Given the description of an element on the screen output the (x, y) to click on. 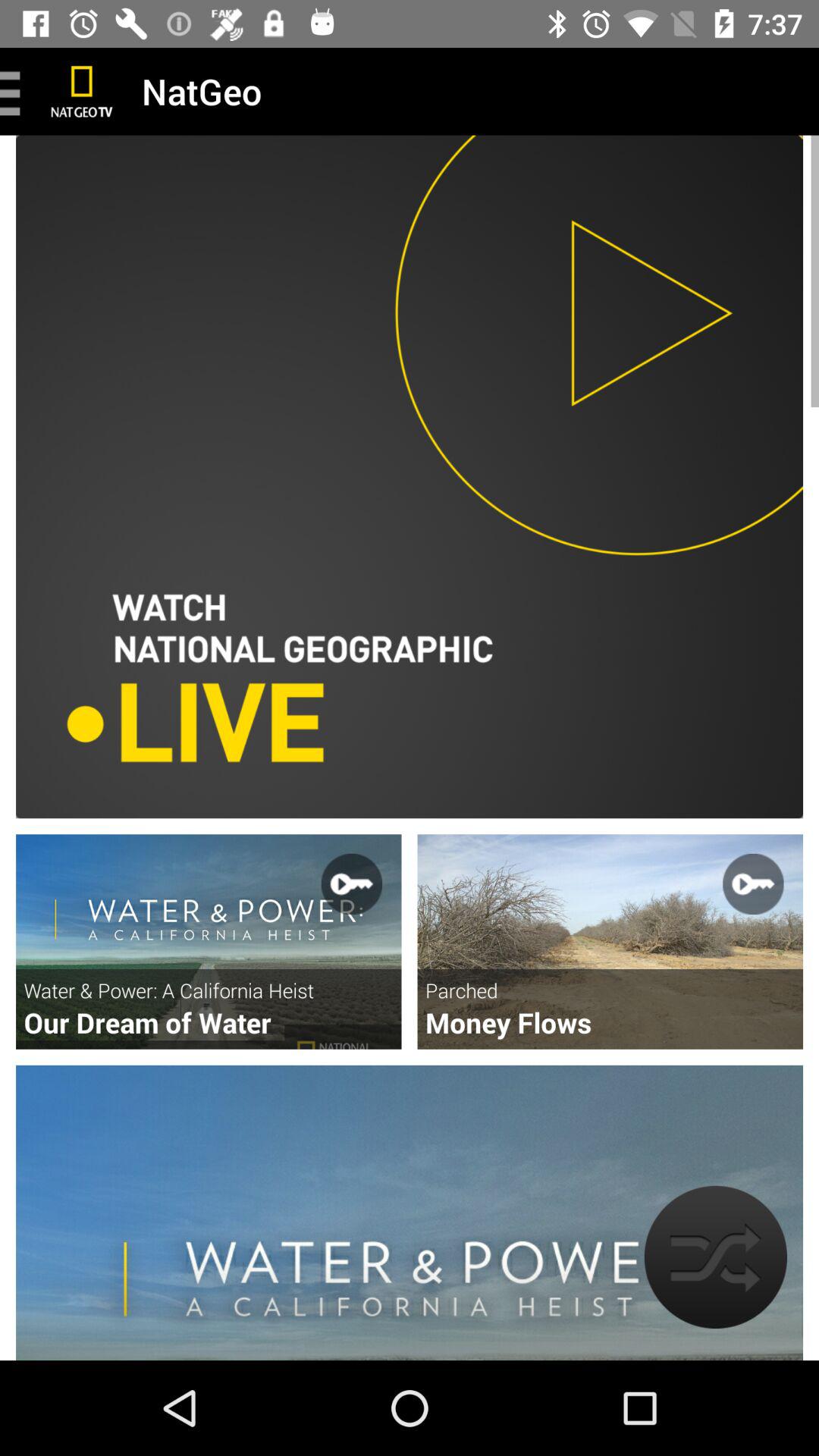
click on icon (208, 941)
